Given the description of an element on the screen output the (x, y) to click on. 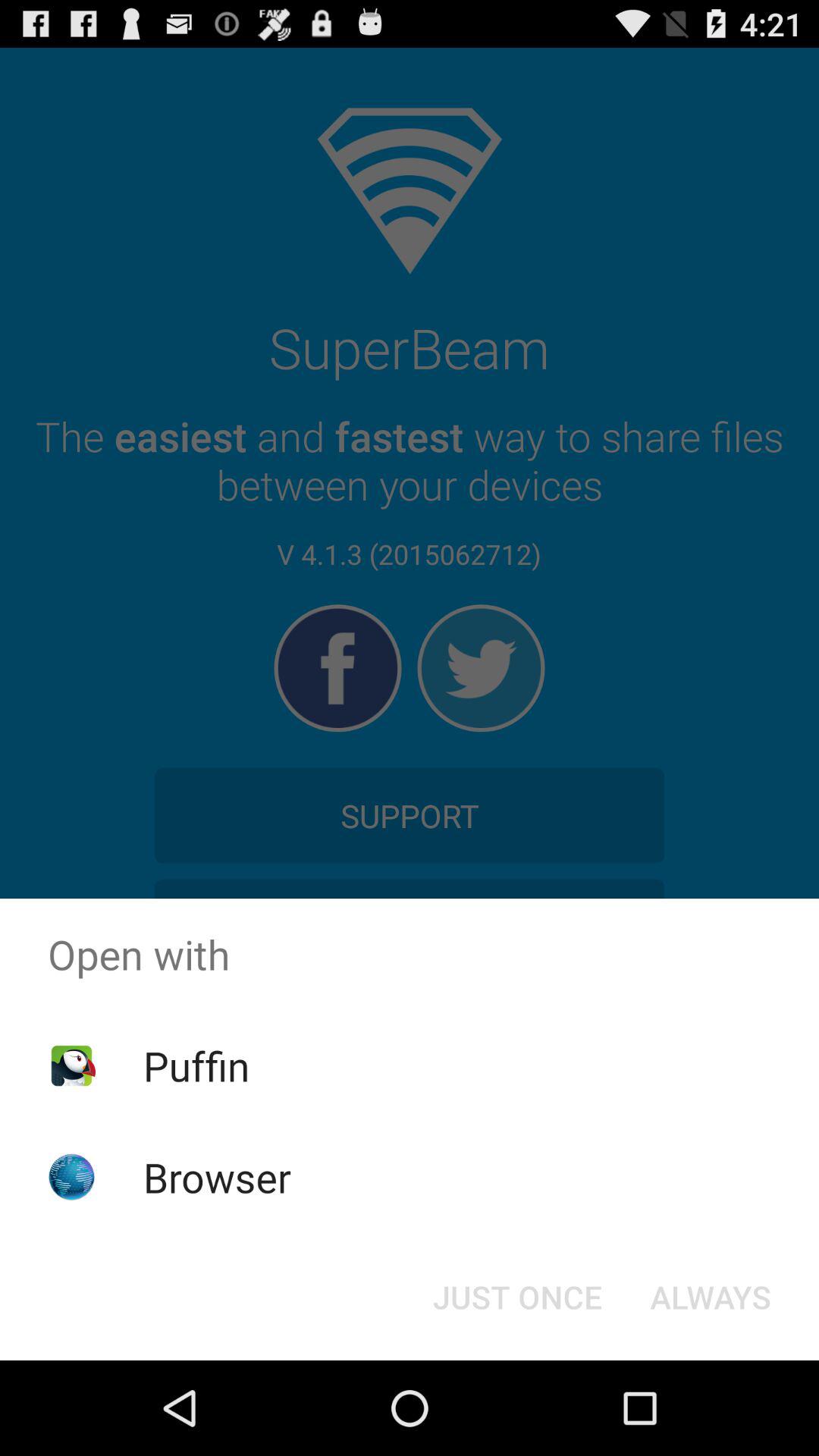
scroll until the always (710, 1296)
